Given the description of an element on the screen output the (x, y) to click on. 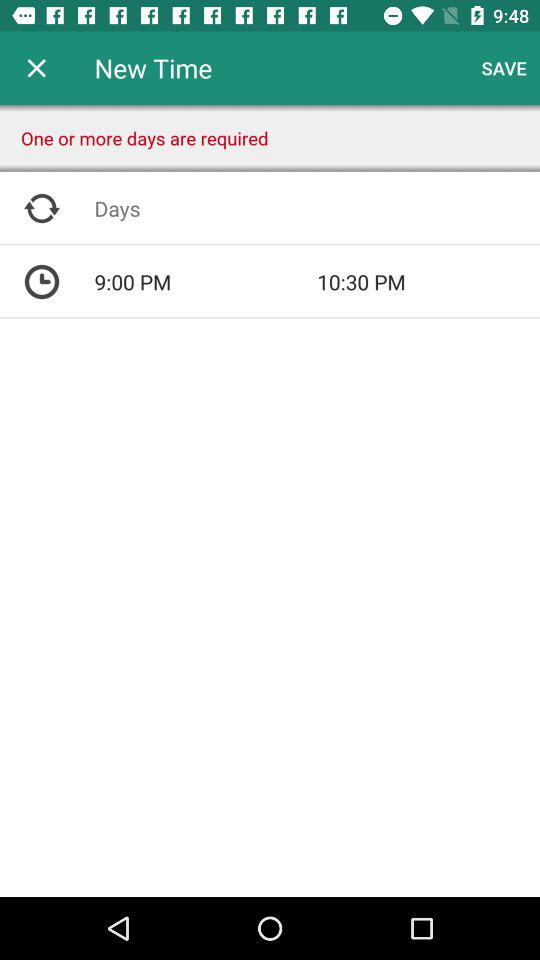
click the app next to new time item (36, 68)
